Given the description of an element on the screen output the (x, y) to click on. 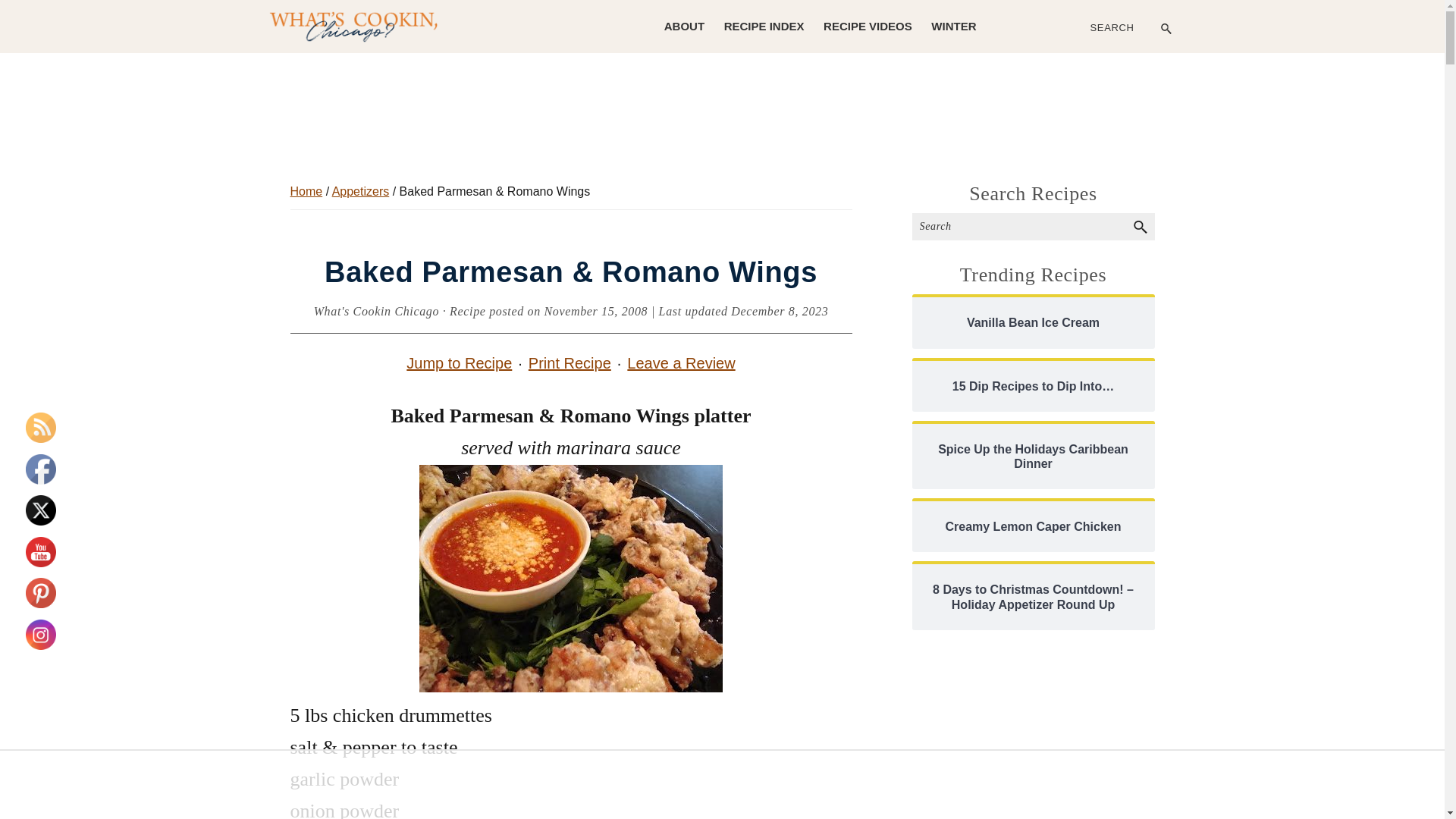
RECIPE VIDEOS (867, 25)
ABOUT (683, 25)
Leave a Review (681, 363)
Print Recipe (569, 362)
RECIPE INDEX (764, 25)
Jump to Recipe (459, 362)
Home (305, 191)
Appetizers (360, 191)
WINTER (953, 25)
